Given the description of an element on the screen output the (x, y) to click on. 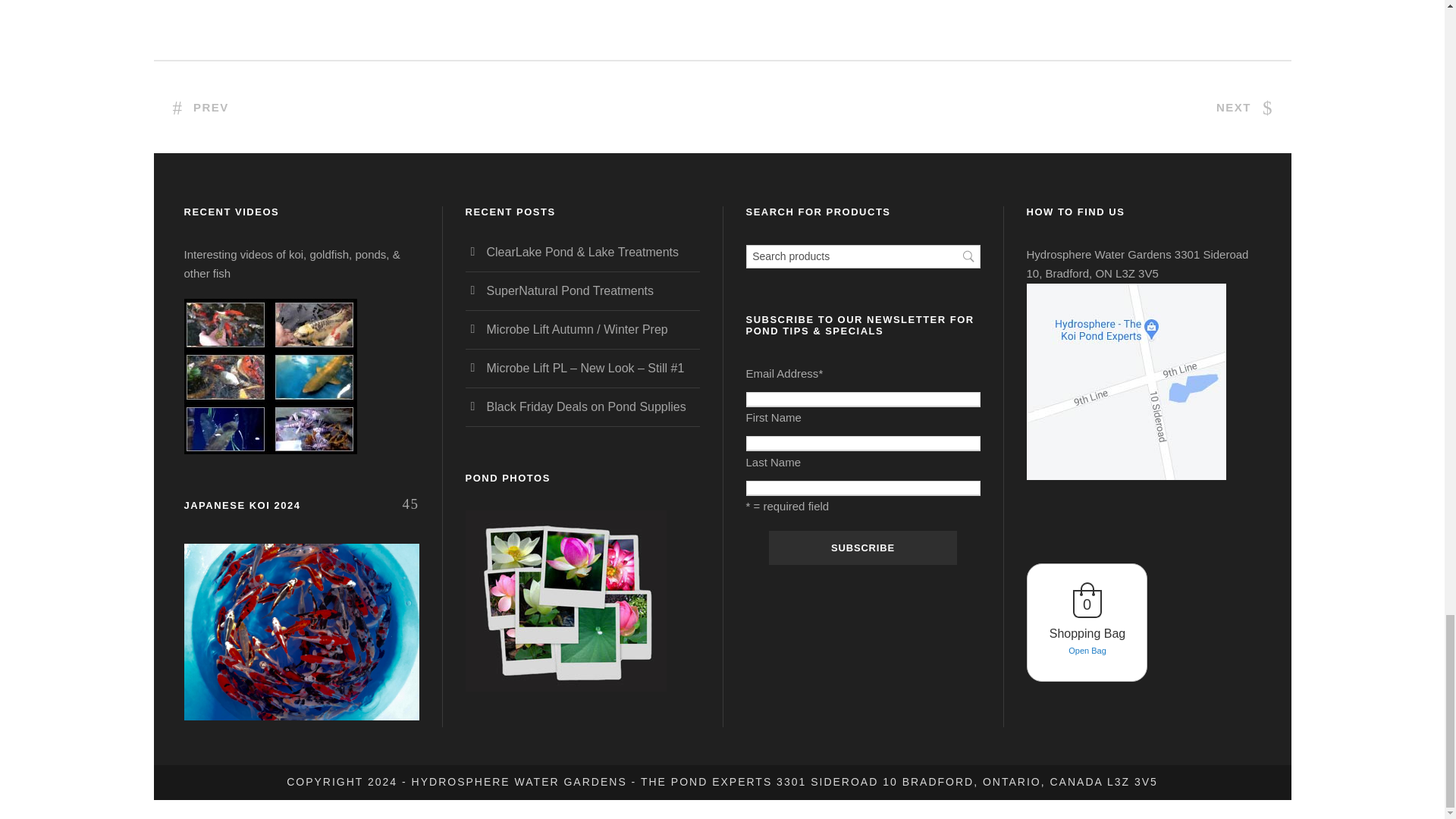
Subscribe (862, 547)
